Given the description of an element on the screen output the (x, y) to click on. 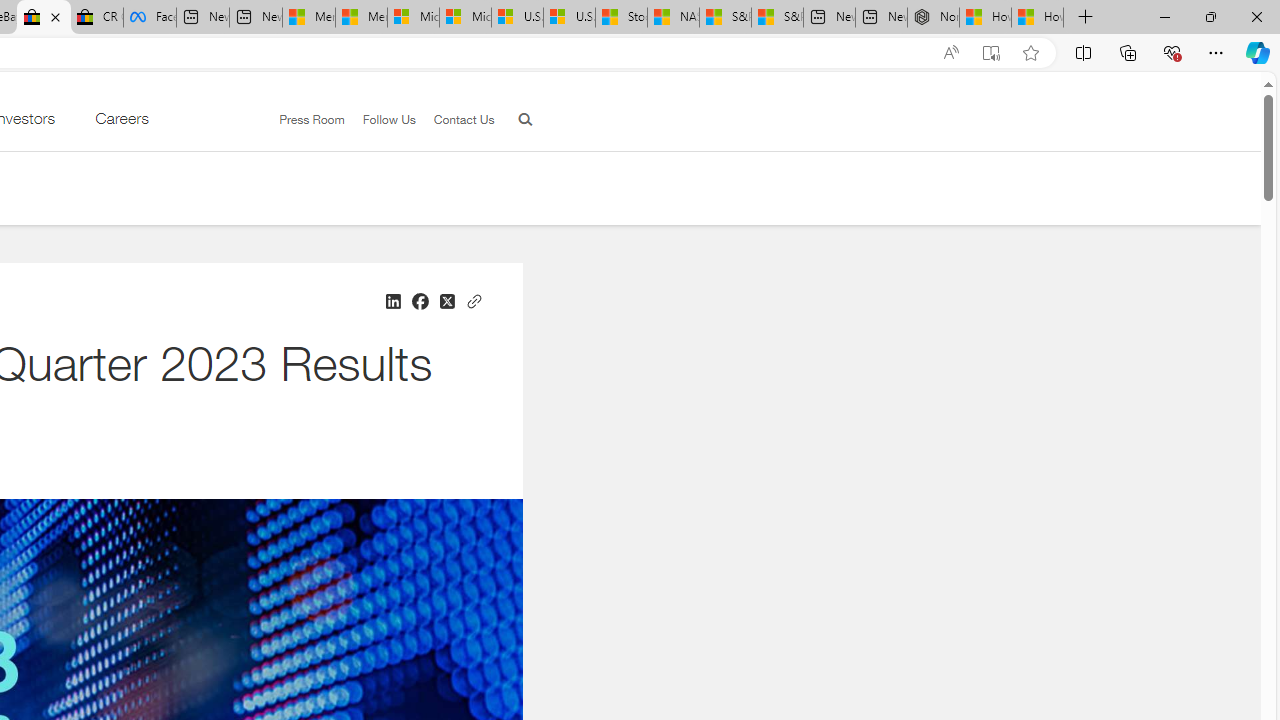
eBay Inc. Reports Third Quarter 2023 Results (43, 17)
Enter Immersive Reader (F9) (991, 53)
Press Room (303, 120)
Follow Us (389, 119)
Careers (121, 123)
Copy link to clipboard (473, 299)
